Given the description of an element on the screen output the (x, y) to click on. 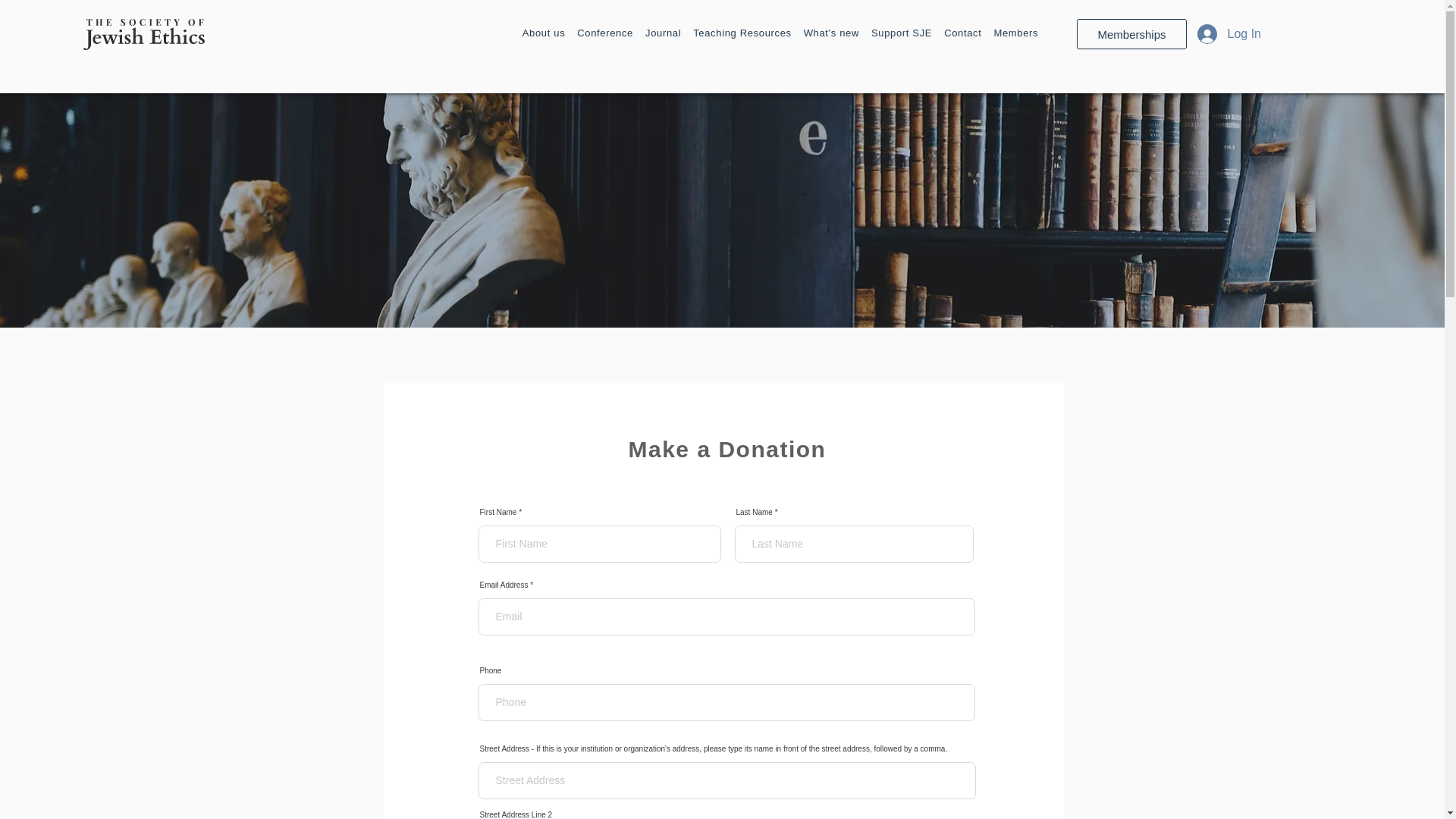
Contact (962, 33)
Log In (1228, 33)
Members (1015, 33)
Journal (663, 33)
Conference (604, 33)
What's new (830, 33)
About us (544, 33)
Memberships (1131, 33)
Teaching Resources (742, 33)
Support SJE (900, 33)
